Given the description of an element on the screen output the (x, y) to click on. 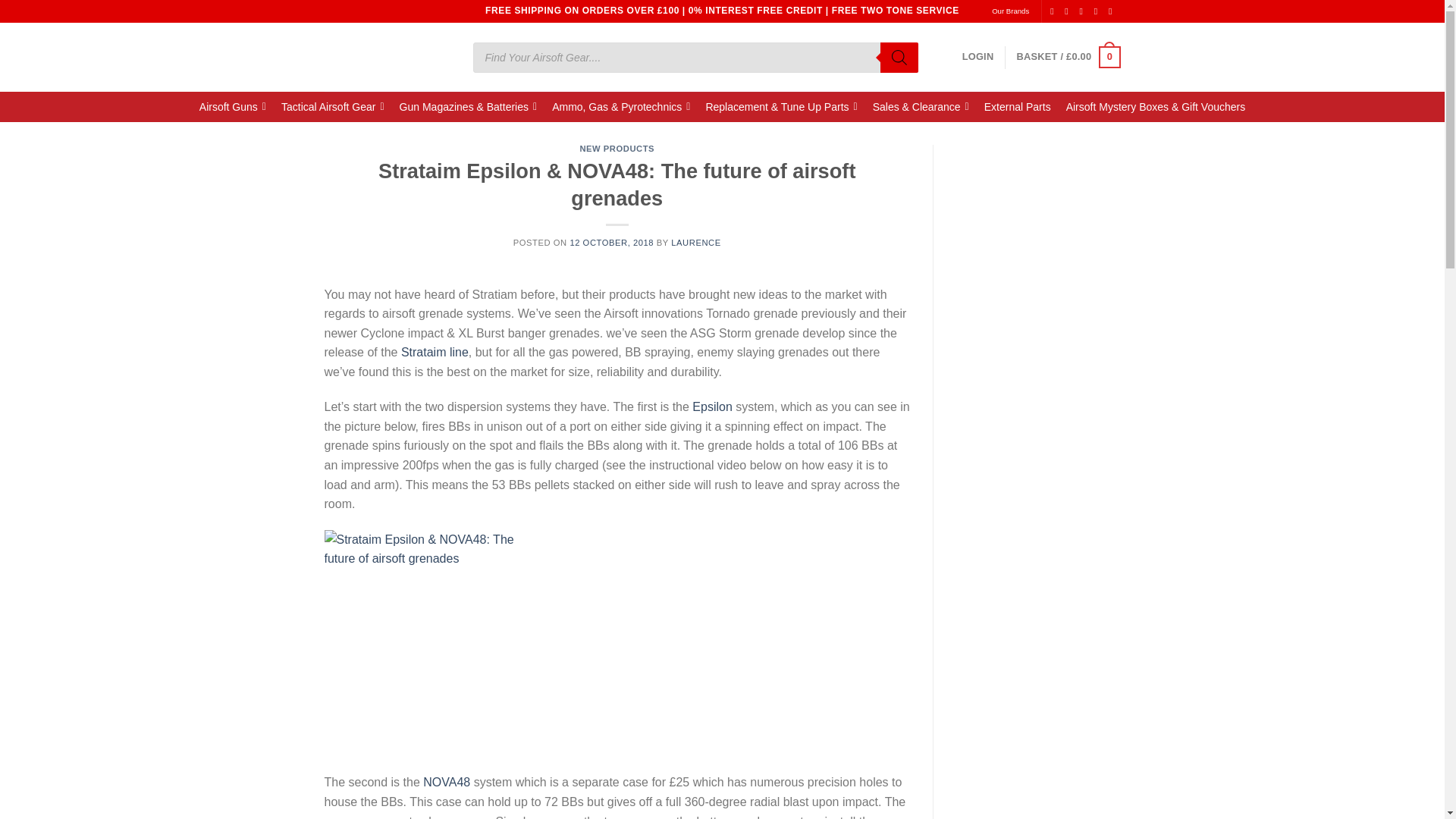
Our Brands (1010, 10)
Basket (1067, 57)
Tactical Airsoft Gear (332, 106)
Airsoft Guns (232, 106)
LOGIN (978, 56)
